Given the description of an element on the screen output the (x, y) to click on. 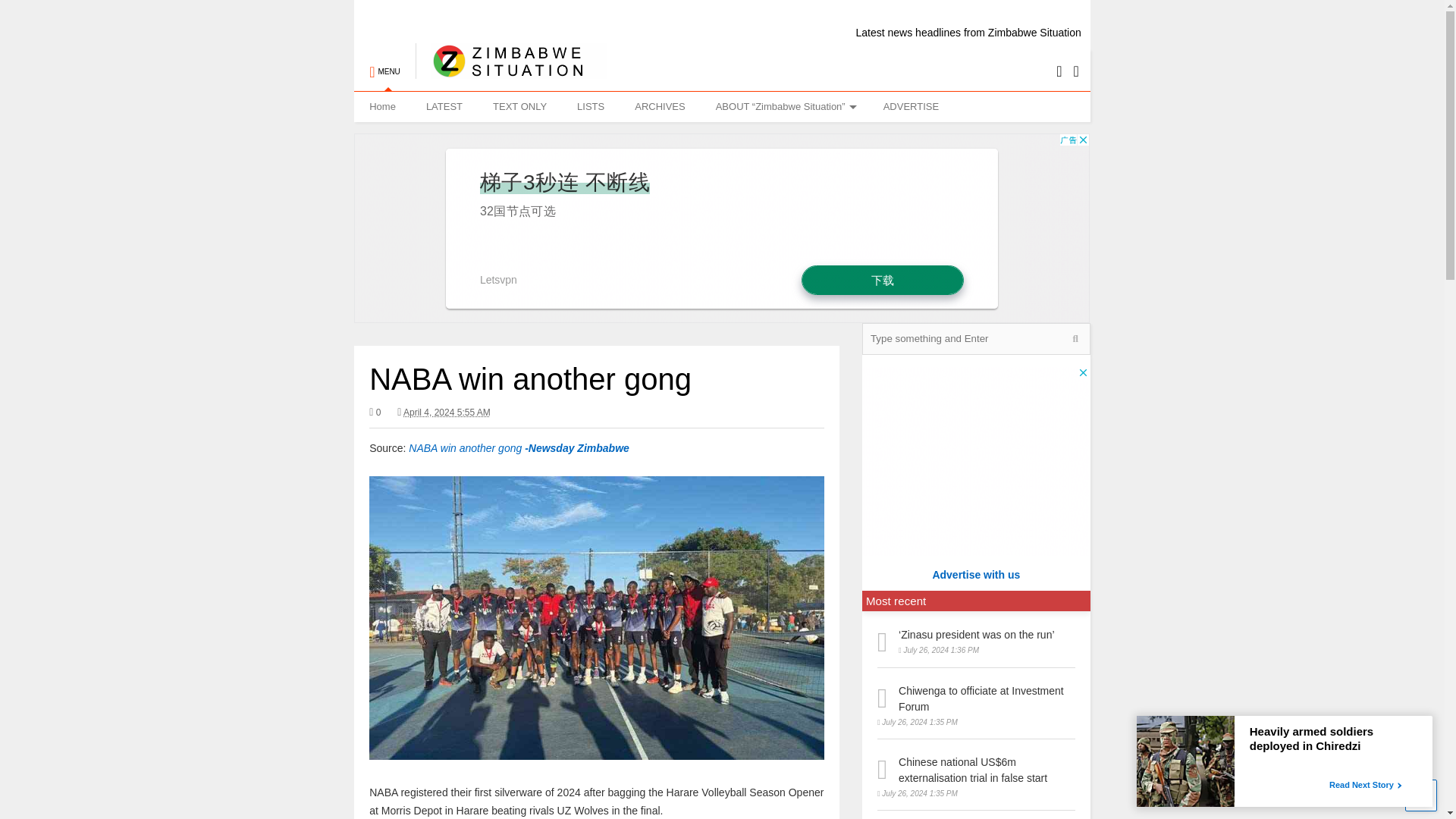
MENU (383, 65)
NABA win another gong -Newsday Zimbabwe (518, 448)
ADVERTISE (910, 106)
3rd party ad content (975, 461)
TEXT ONLY (519, 106)
LISTS (591, 106)
Zimbabwe Situation (510, 71)
ARCHIVES (660, 106)
LATEST (443, 106)
April 4, 2024 5:55 AM (443, 412)
Home (381, 106)
April 4, 2024 5:49 AM (446, 412)
